Given the description of an element on the screen output the (x, y) to click on. 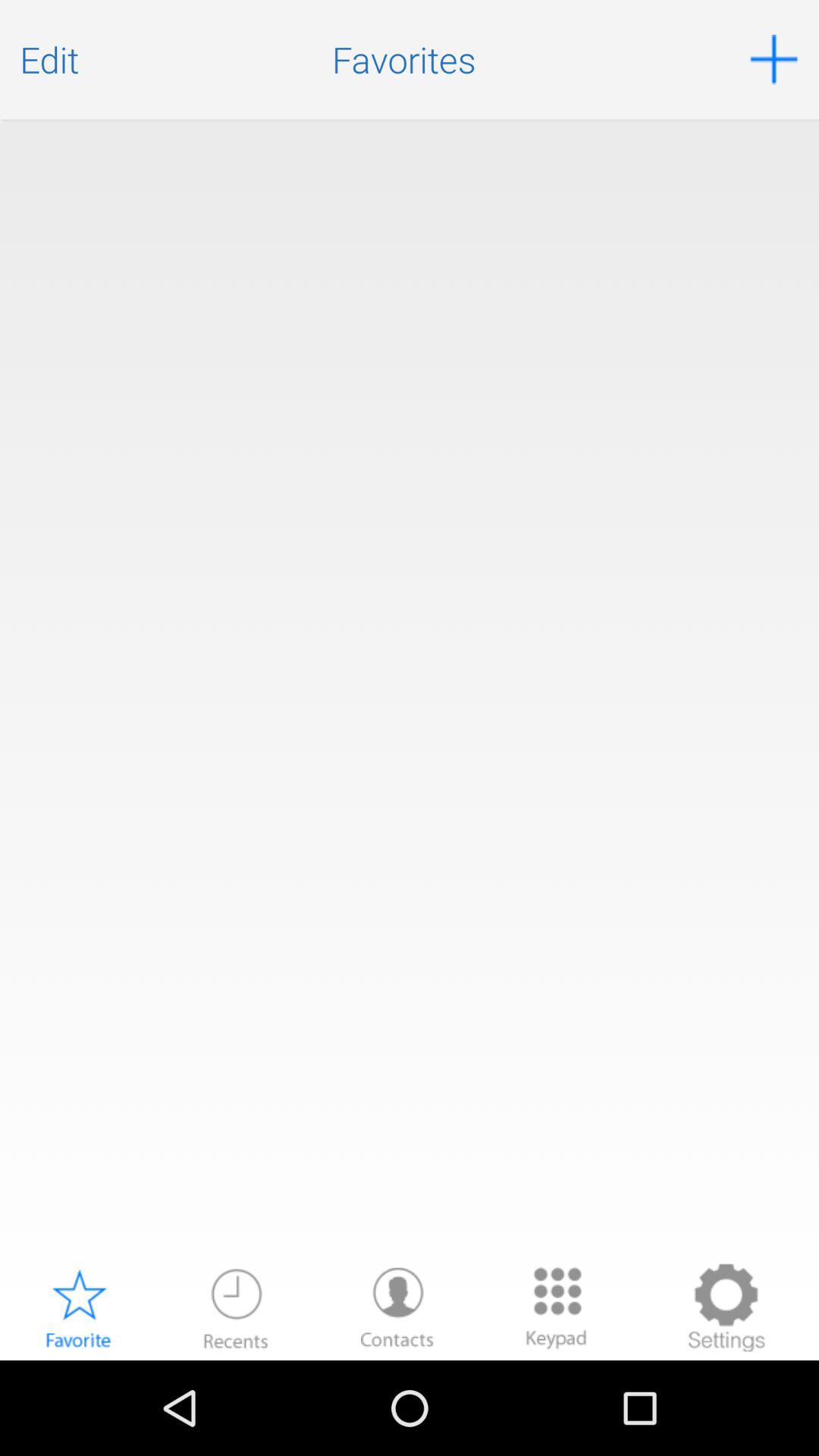
go to settings (725, 1307)
